Given the description of an element on the screen output the (x, y) to click on. 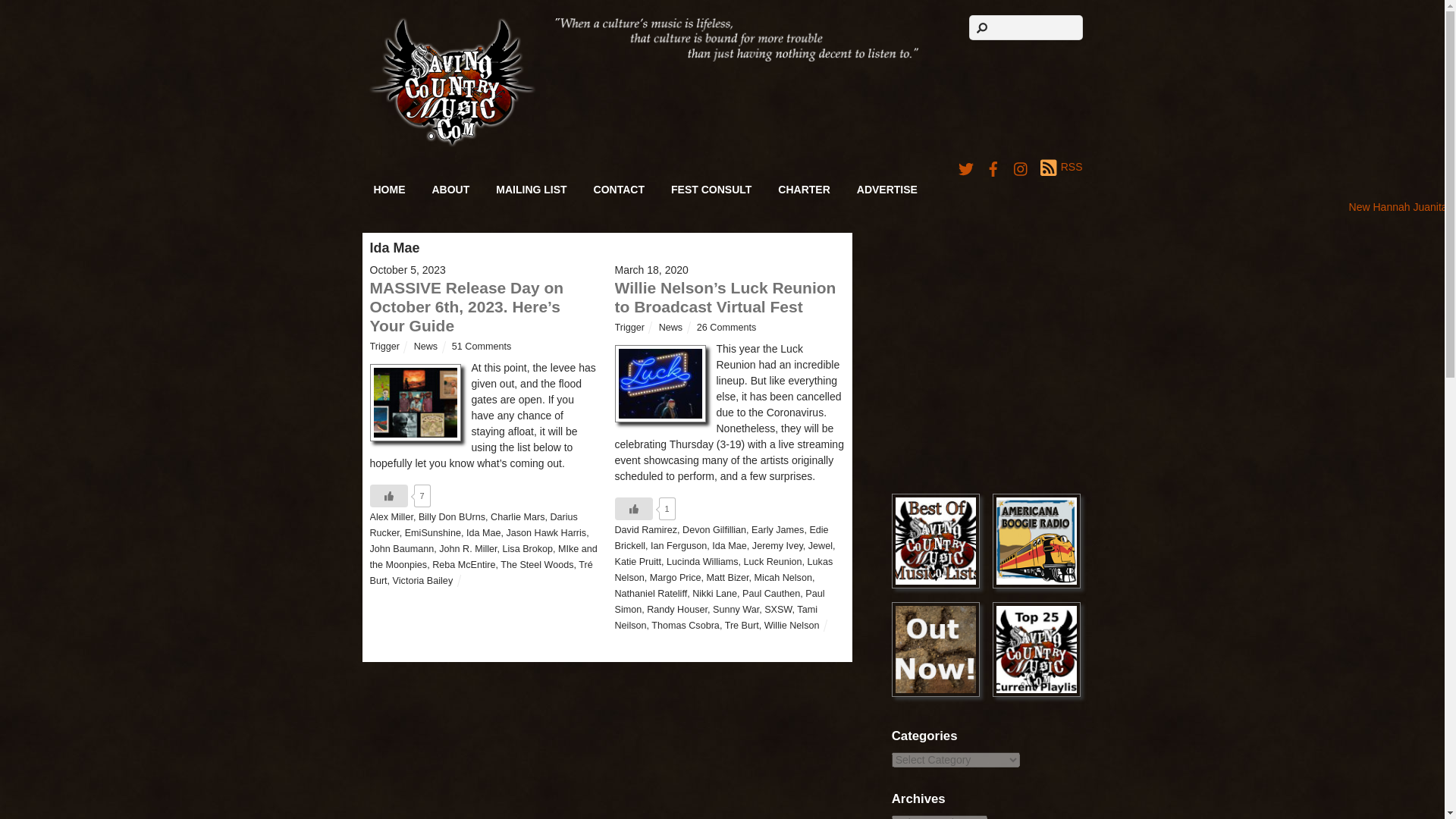
Reba McEntire (463, 564)
News (670, 327)
ADVERTISE (886, 190)
CONTACT (619, 190)
CHARTER (804, 190)
Search (1026, 27)
MIke and the Moonpies (482, 556)
Victoria Bailey (422, 580)
logo (451, 81)
FEST CONSULT (710, 190)
51 Comments (481, 346)
RSS (1061, 167)
Trigger (383, 346)
HOME (389, 190)
Jason Hawk Harris (545, 532)
